Given the description of an element on the screen output the (x, y) to click on. 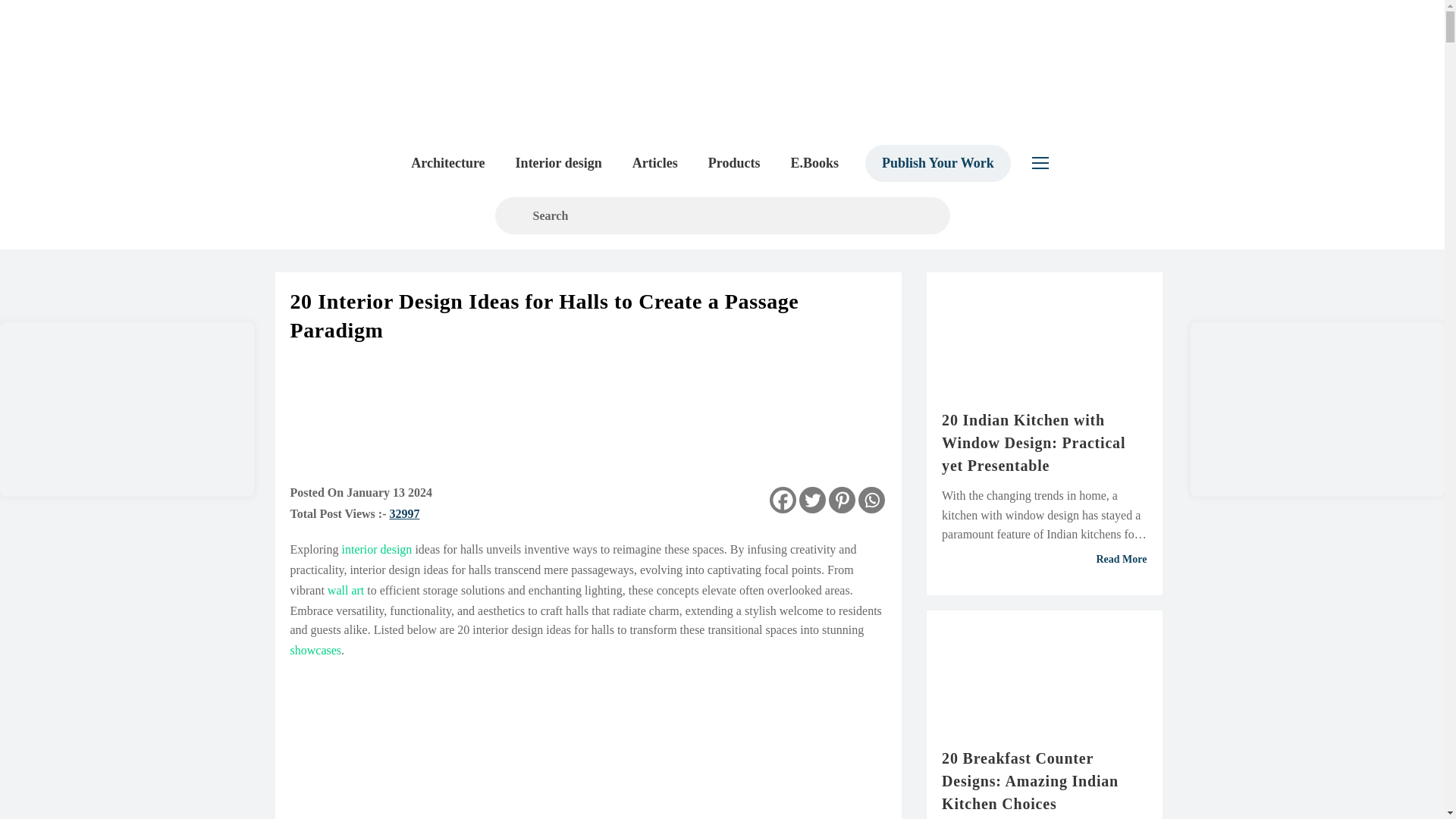
20 Breakfast Counter Designs: Amazing Indian Kitchen Choices (1044, 780)
Read More (1044, 559)
interior design (376, 549)
E.Books (813, 162)
wall art (345, 590)
Articles (655, 162)
showcases (314, 649)
Publish Your Work (937, 162)
Architecture (447, 162)
Interior design (558, 162)
Products (734, 162)
search (722, 215)
